Given the description of an element on the screen output the (x, y) to click on. 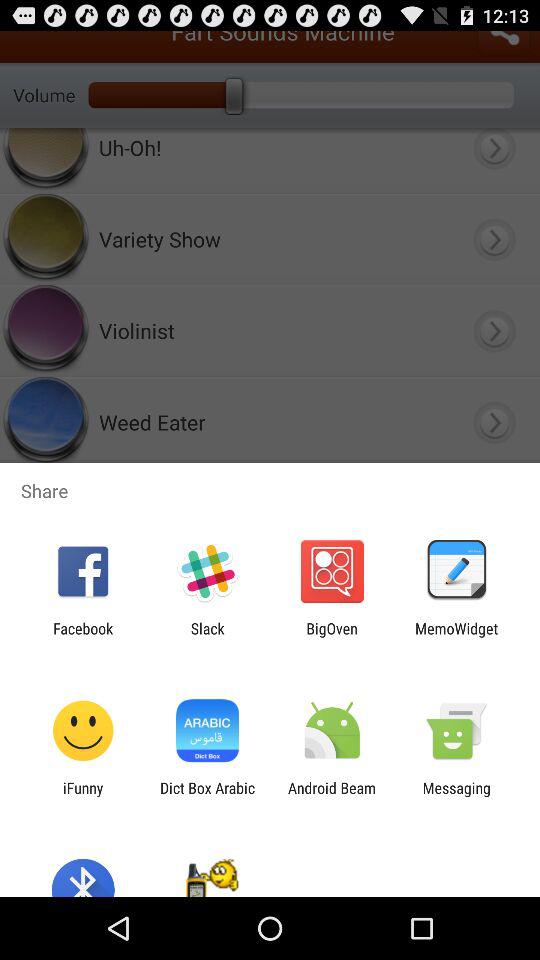
click icon to the left of the bigoven item (207, 637)
